Given the description of an element on the screen output the (x, y) to click on. 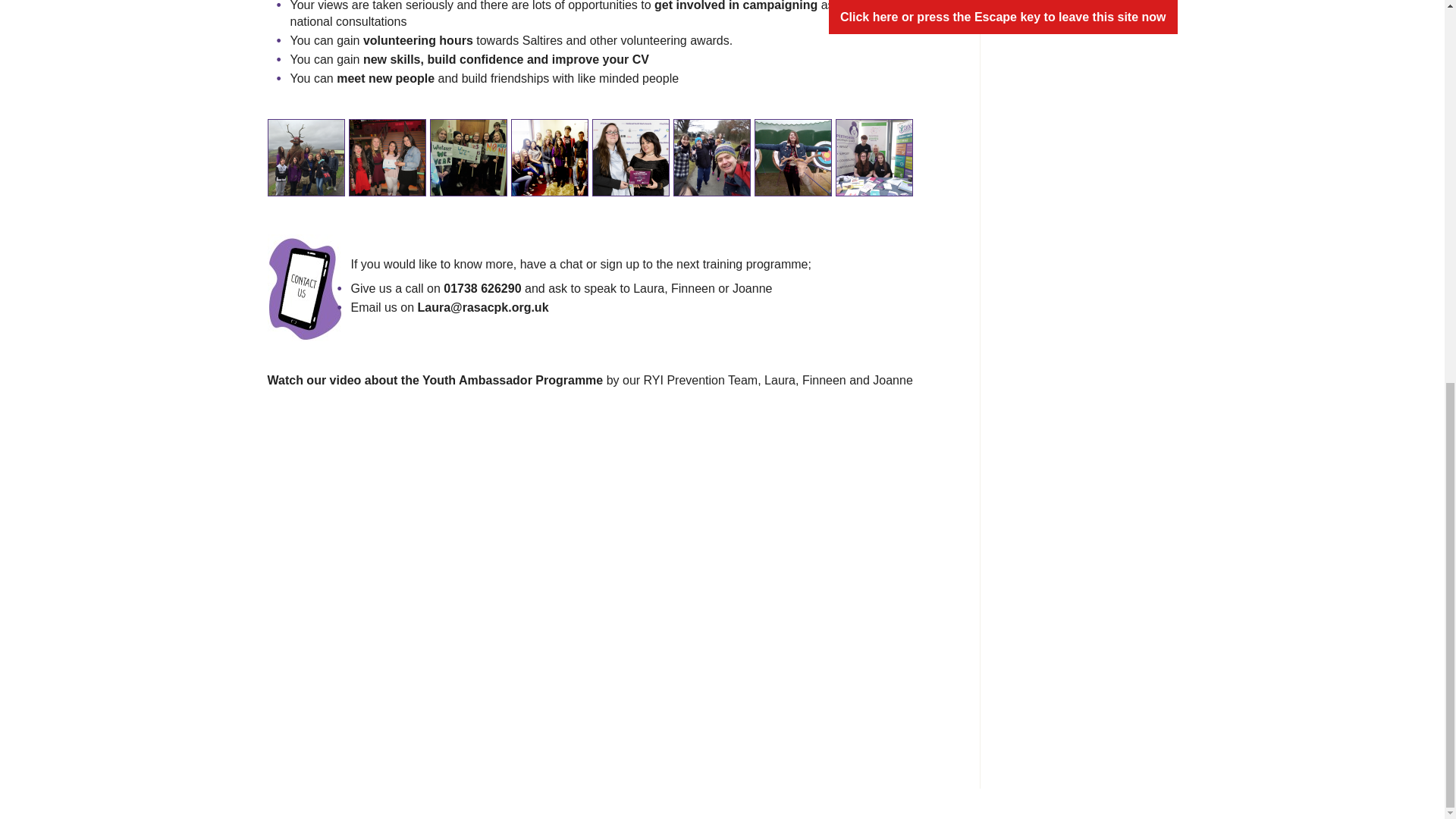
National Youth Work Awards 2018 (630, 191)
Youth Ambassadors trip to Willowgate (710, 191)
